Given the description of an element on the screen output the (x, y) to click on. 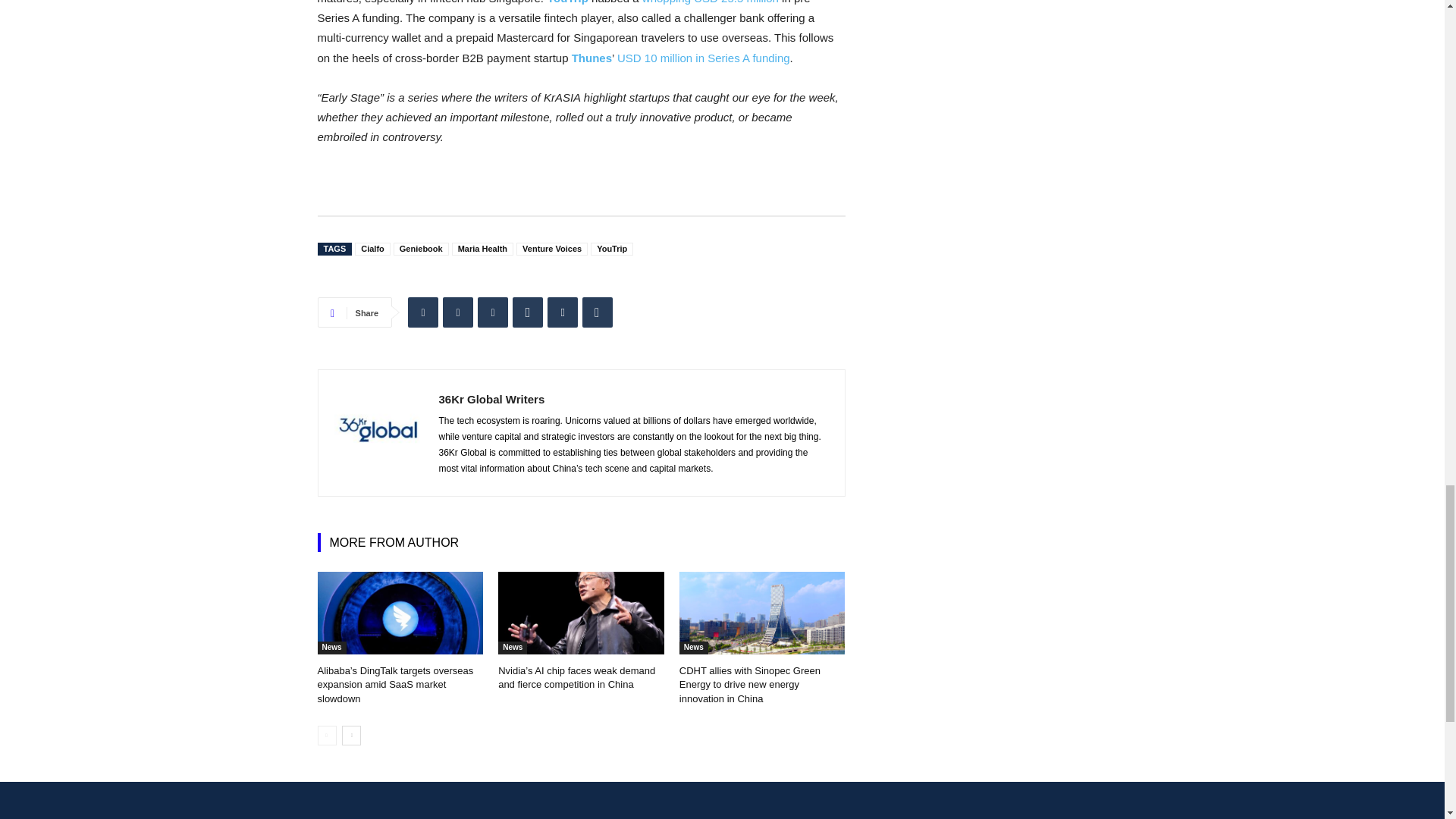
Linkedin (422, 312)
USD 10 million in Series A funding (703, 57)
WhatsApp (527, 312)
Thunes (591, 57)
36Kr Global Writers (377, 432)
YouTrip (567, 2)
Email (562, 312)
Copy URL (597, 312)
Twitter (457, 312)
Facebook (492, 312)
whopping USD 25.5 million (710, 2)
